Given the description of an element on the screen output the (x, y) to click on. 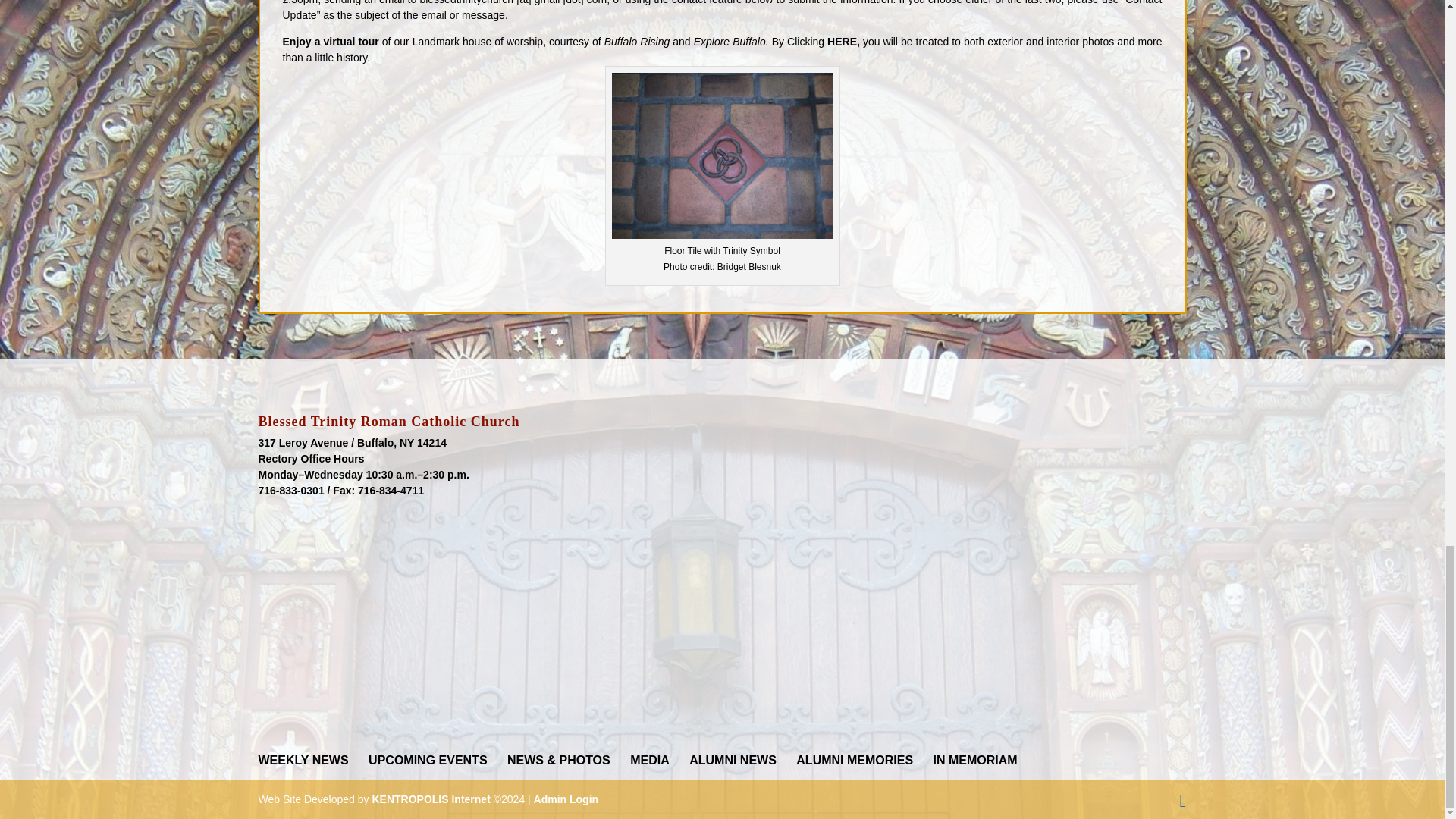
HERE, (843, 41)
